Given the description of an element on the screen output the (x, y) to click on. 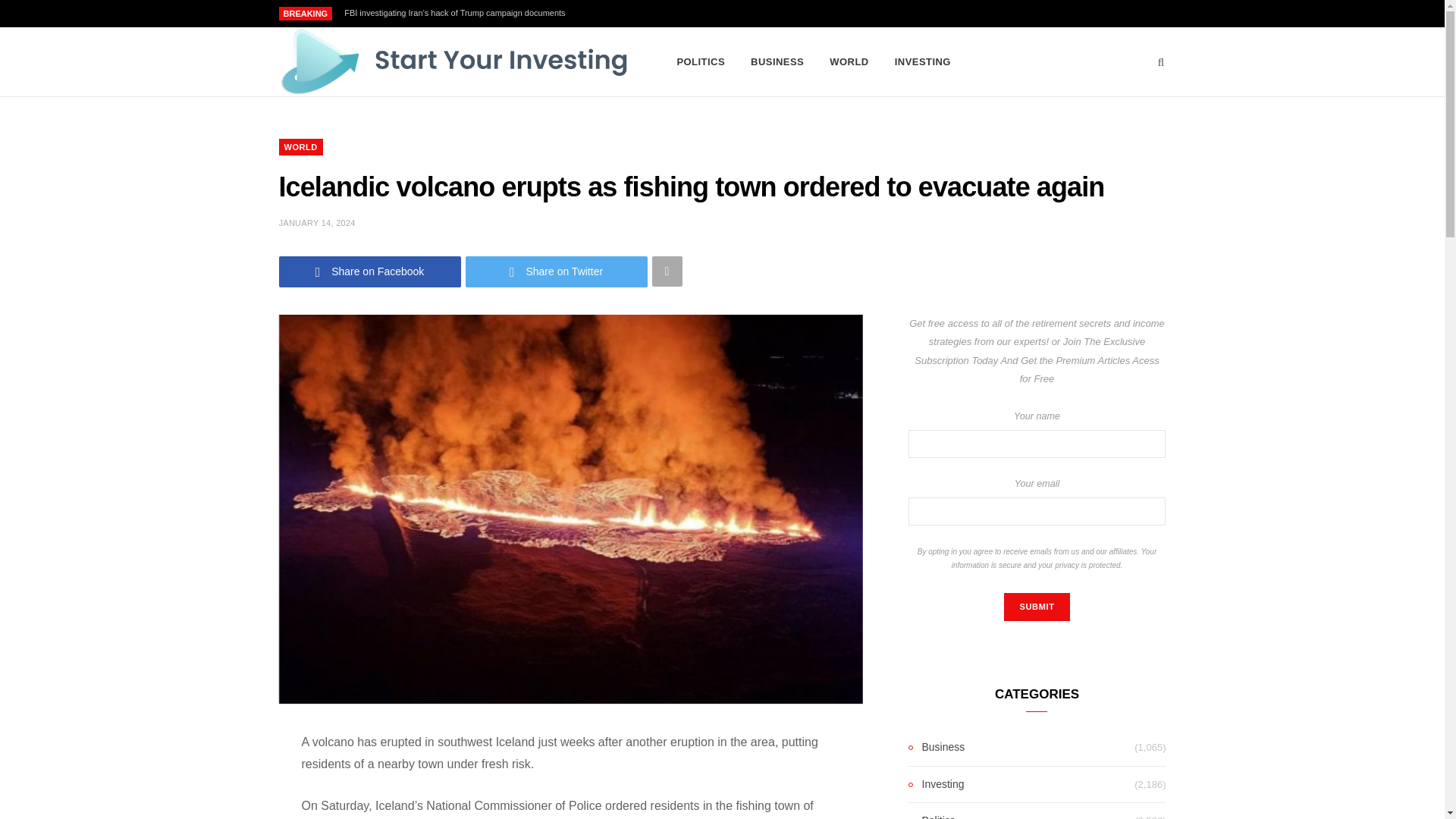
Share on Facebook (370, 271)
Start Your Investing (453, 61)
WORLD (301, 146)
Share on Facebook (370, 271)
INVESTING (922, 61)
Share on Twitter (556, 271)
JANUARY 14, 2024 (317, 222)
Share on Twitter (556, 271)
WORLD (848, 61)
BUSINESS (777, 61)
